Given the description of an element on the screen output the (x, y) to click on. 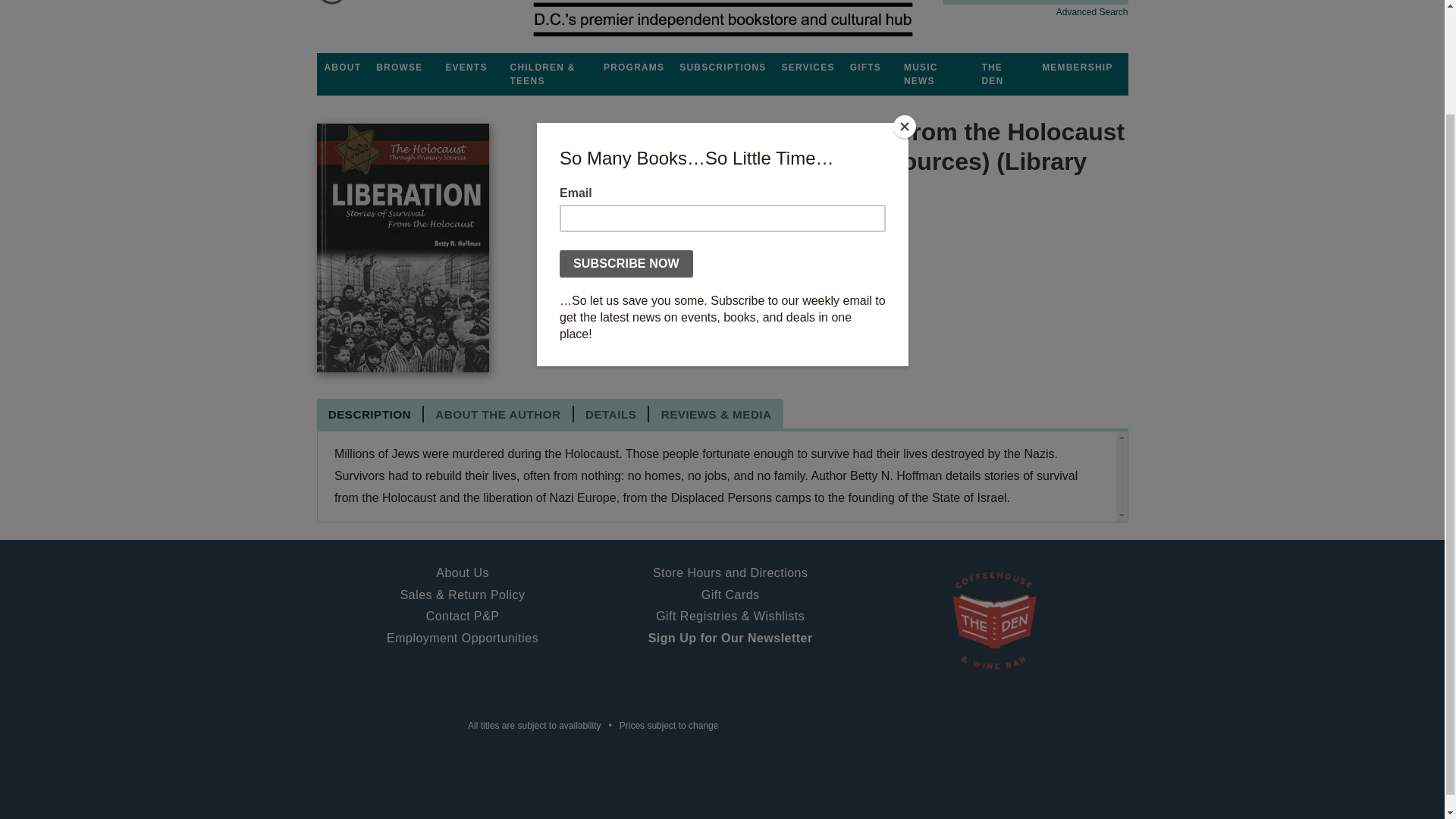
SERVICES (808, 67)
ABOUT (343, 67)
Add to Wish List (729, 337)
Title, author or keyword... (1034, 2)
See information about our programs (633, 67)
PROGRAMS (633, 67)
Browse our shelves (398, 67)
My Account (332, 4)
Add to Cart (605, 337)
Children and Teens Department (548, 74)
SUBSCRIPTIONS (722, 67)
BROWSE (398, 67)
Cart (371, 4)
Advanced Search (1092, 11)
Visit your cart (371, 4)
